Given the description of an element on the screen output the (x, y) to click on. 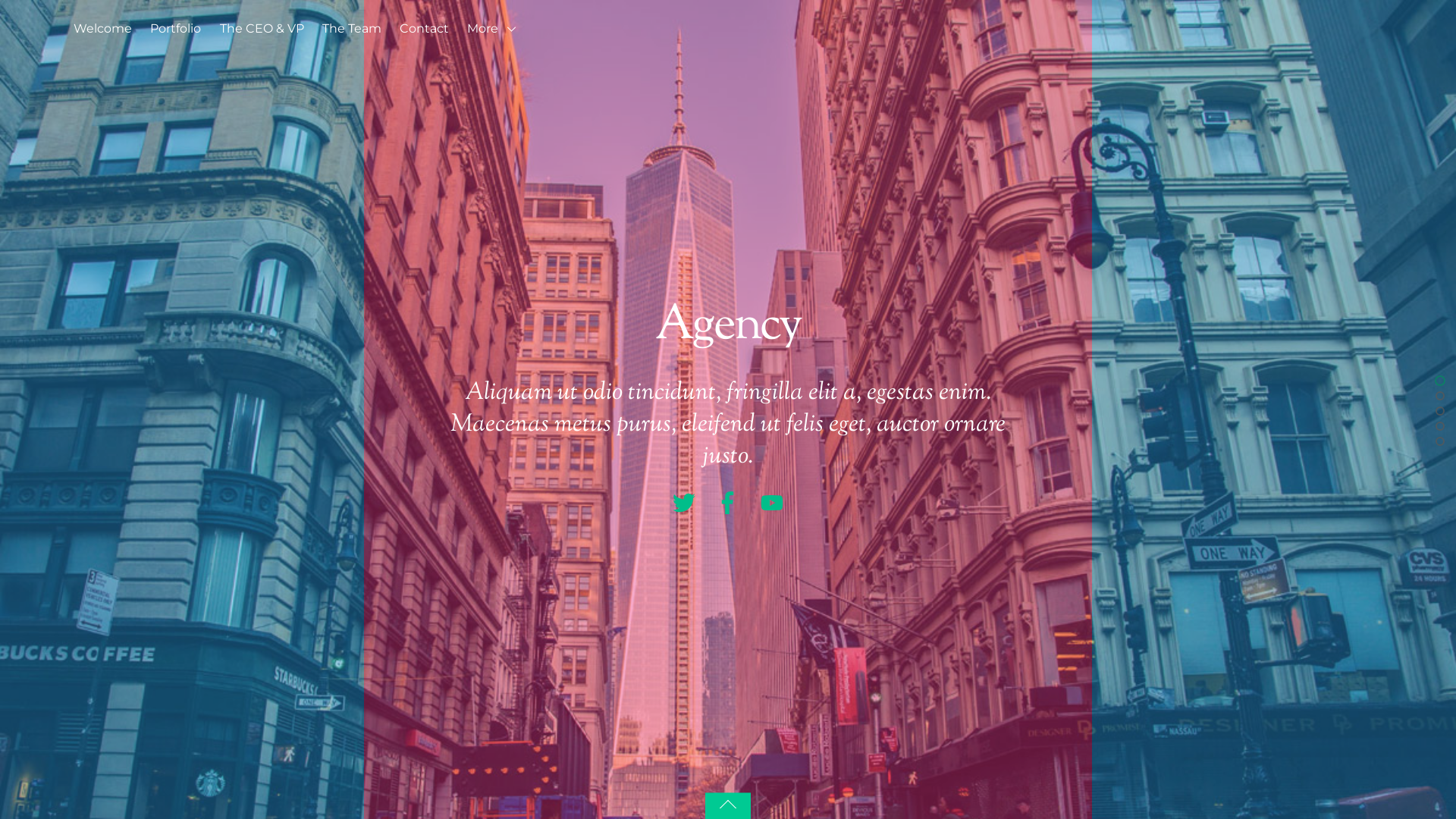
Contact Element type: text (424, 31)
Welcome Element type: text (102, 31)
The CEO & VP Element type: text (261, 31)
5 Element type: text (1439, 440)
4 Element type: text (1439, 424)
2 Element type: text (1439, 394)
The Team Element type: text (351, 31)
More Element type: text (493, 31)
3 Element type: text (1439, 409)
Portfolio Element type: text (175, 31)
1 Element type: text (1439, 379)
